Given the description of an element on the screen output the (x, y) to click on. 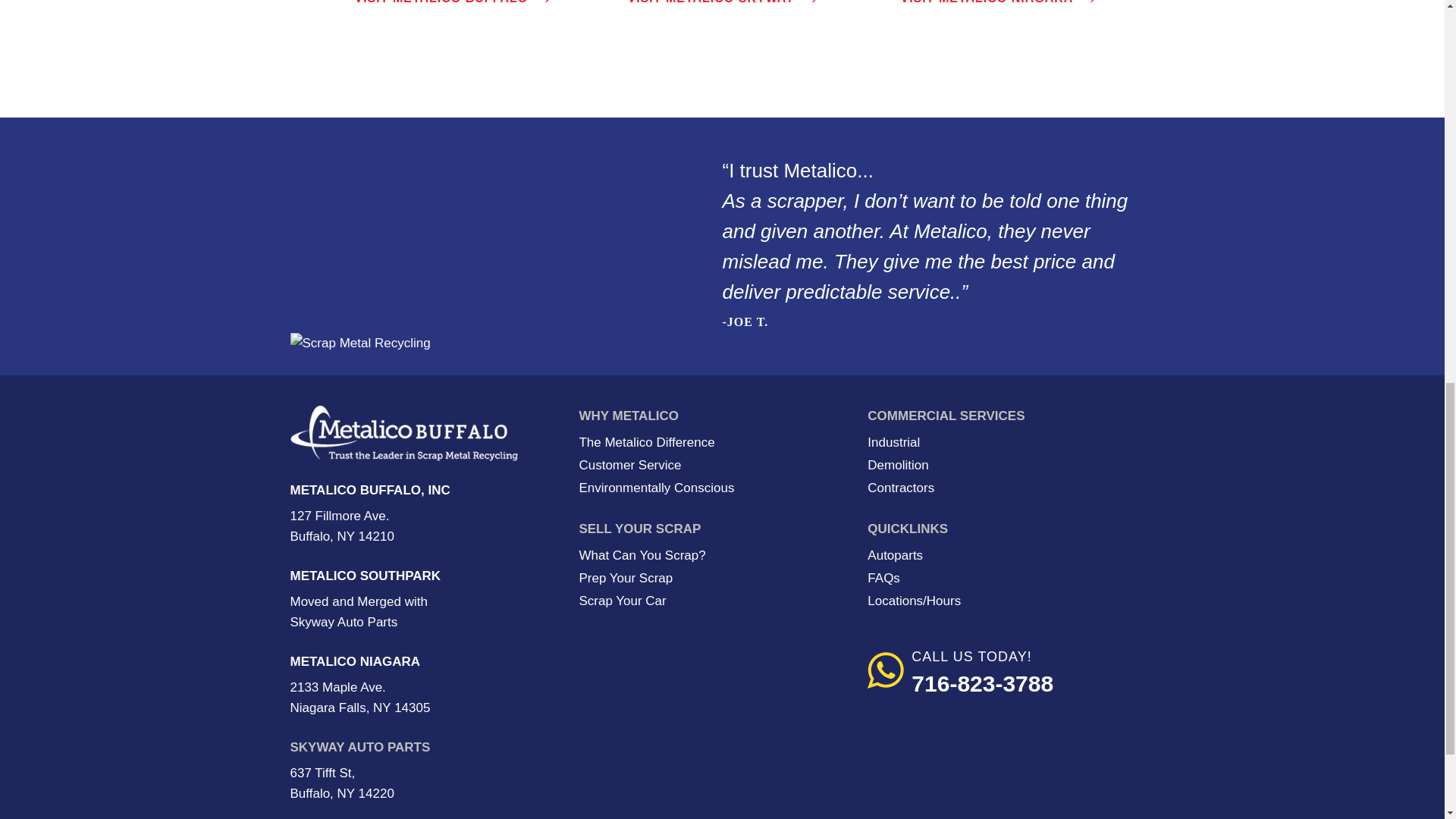
Customer Service (629, 464)
METALICO NIAGARA (354, 661)
METALICO BUFFALO, INC (369, 490)
VISIT METALICO BUFFALO (441, 6)
VISIT METALICO SKYWAY (710, 6)
METALICO SOUTHPARK (365, 575)
VISIT METALICO NIAGARA (986, 6)
The Metalico Difference (646, 441)
